Given the description of an element on the screen output the (x, y) to click on. 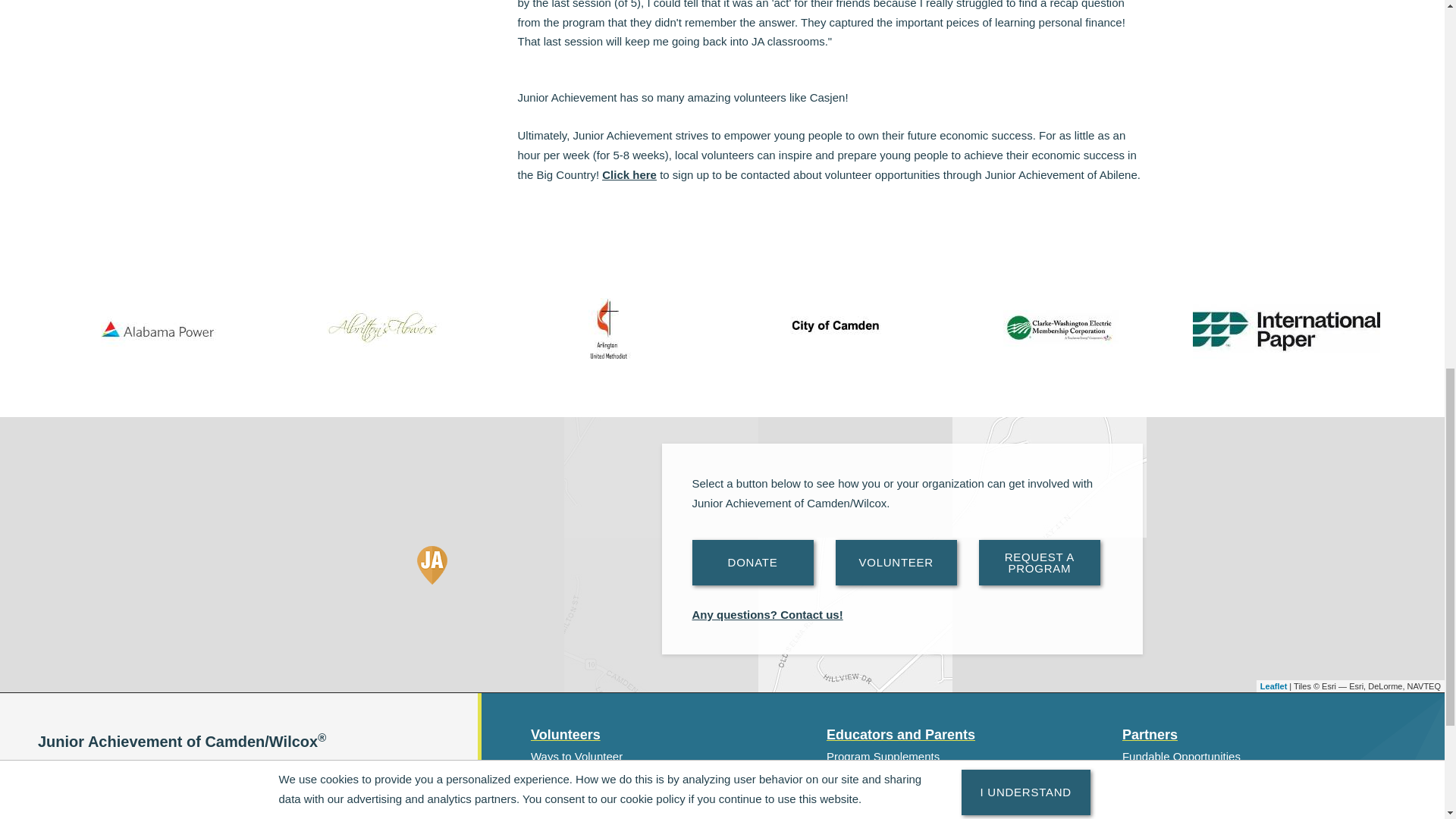
DONATE (751, 562)
Learn more about how Alabama Power supports us (157, 327)
Learn more about how Albritton's Flowers supports us (383, 327)
Leaflet (1273, 686)
Click here (629, 174)
